Given the description of an element on the screen output the (x, y) to click on. 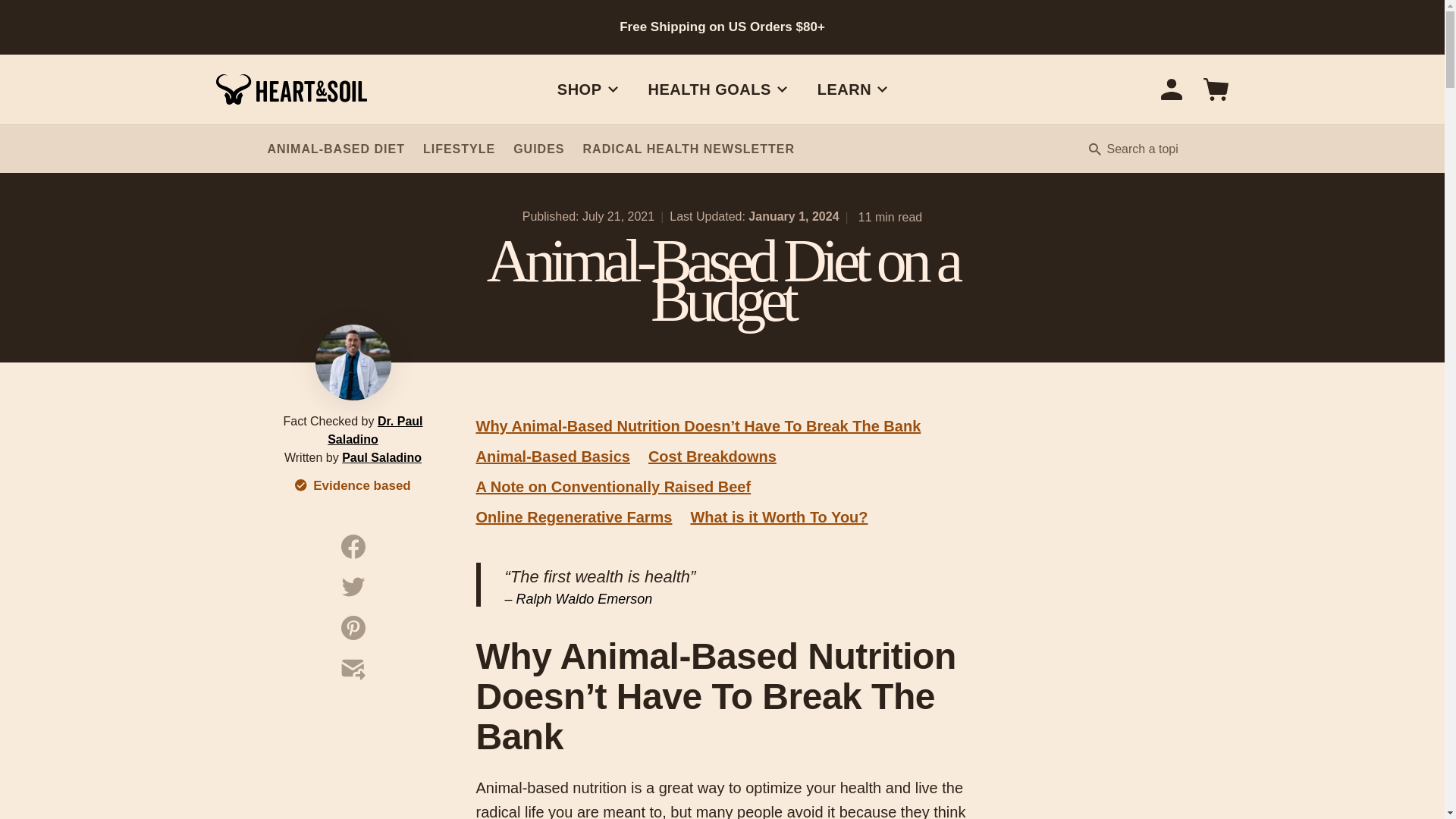
LEARN (852, 89)
SHOP (587, 89)
HEALTH GOALS (530, 148)
